Given the description of an element on the screen output the (x, y) to click on. 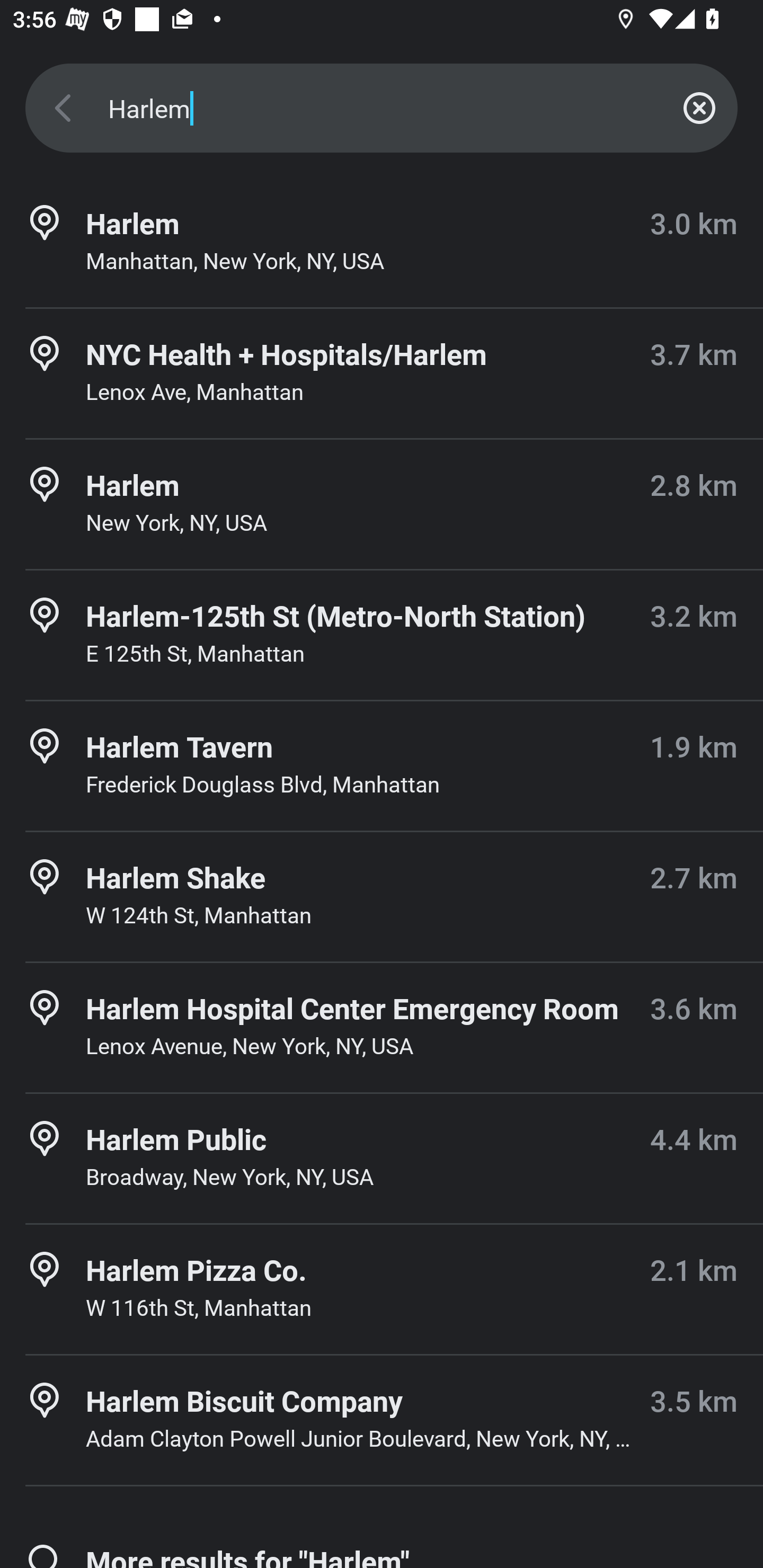
Harlem SEARCH_SCREEN_SEARCH_FIELD (381, 108)
Harlem 3.0 km Manhattan, New York, NY, USA (381, 242)
Harlem 2.8 km New York, NY, USA (381, 504)
Harlem Shake 2.7 km W 124th St, Manhattan (381, 896)
Harlem Public 4.4 km Broadway, New York, NY, USA (381, 1158)
Harlem Pizza Co. 2.1 km W 116th St, Manhattan (381, 1289)
